Given the description of an element on the screen output the (x, y) to click on. 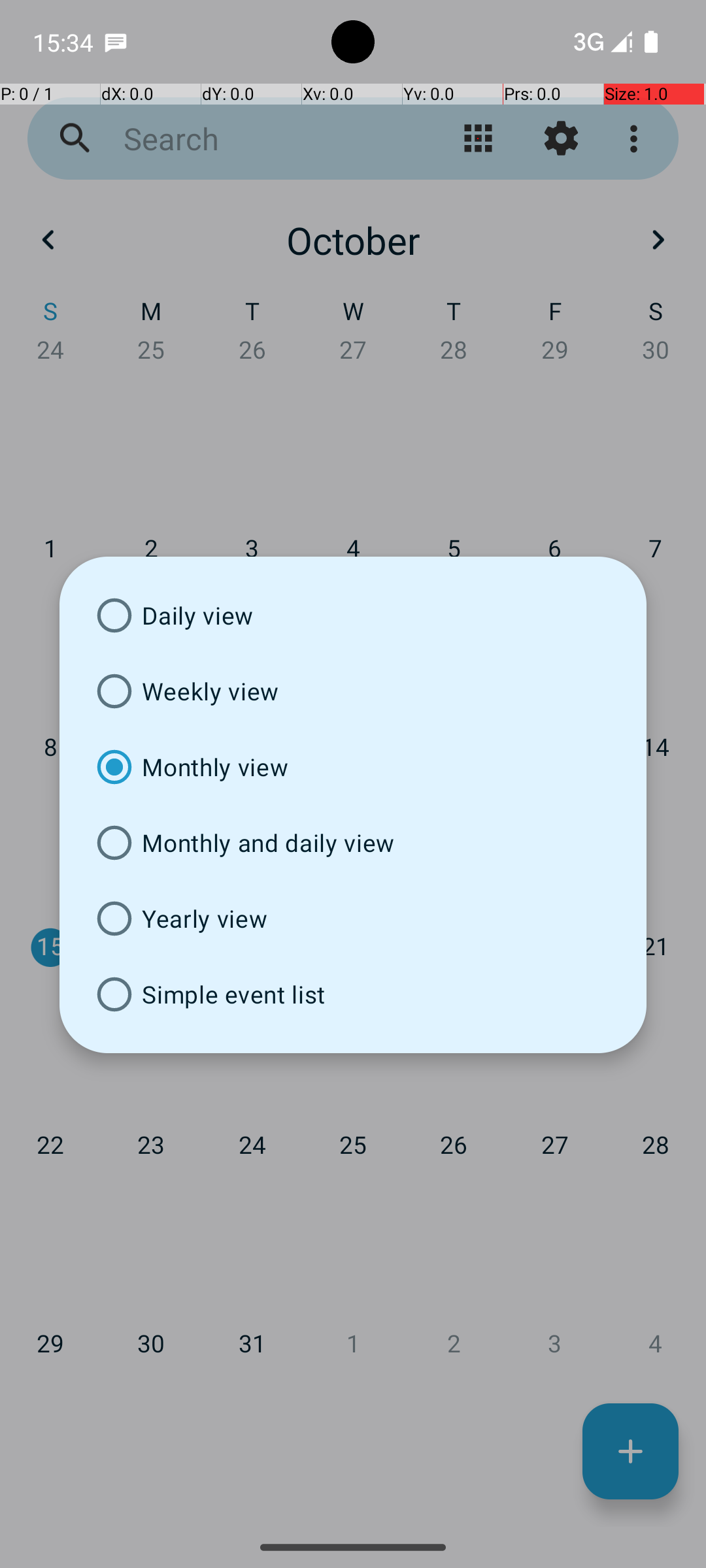
Daily view Element type: android.widget.RadioButton (352, 615)
Weekly view Element type: android.widget.RadioButton (352, 691)
Monthly view Element type: android.widget.RadioButton (352, 766)
Monthly and daily view Element type: android.widget.RadioButton (352, 842)
Yearly view Element type: android.widget.RadioButton (352, 918)
Simple event list Element type: android.widget.RadioButton (352, 994)
SMS Messenger notification: +10214033213 Element type: android.widget.ImageView (115, 41)
